Given the description of an element on the screen output the (x, y) to click on. 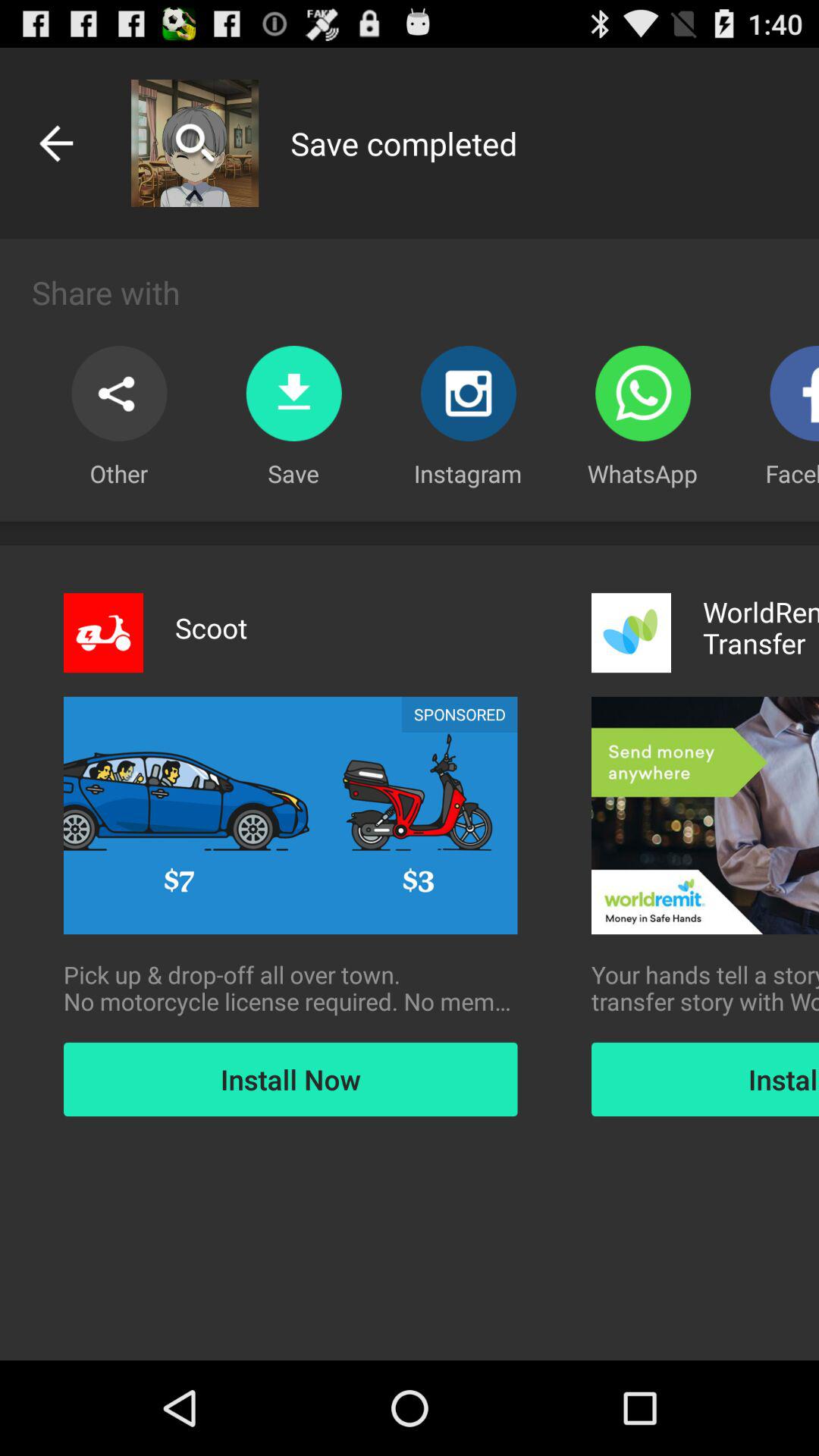
jump until the sponsored (459, 714)
